Given the description of an element on the screen output the (x, y) to click on. 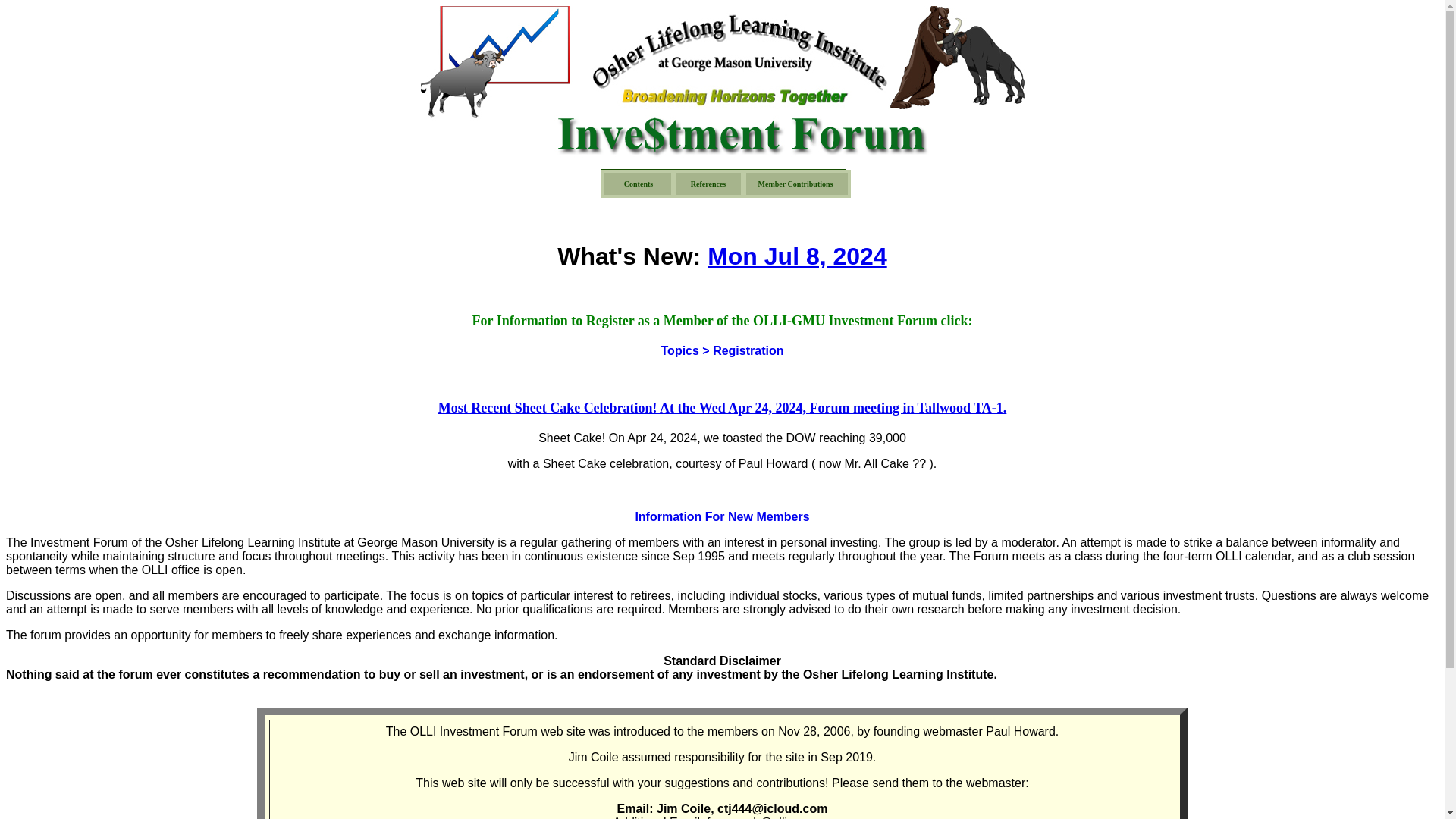
Mon Jul 8, 2024 (796, 256)
Information For New Members (721, 516)
